Given the description of an element on the screen output the (x, y) to click on. 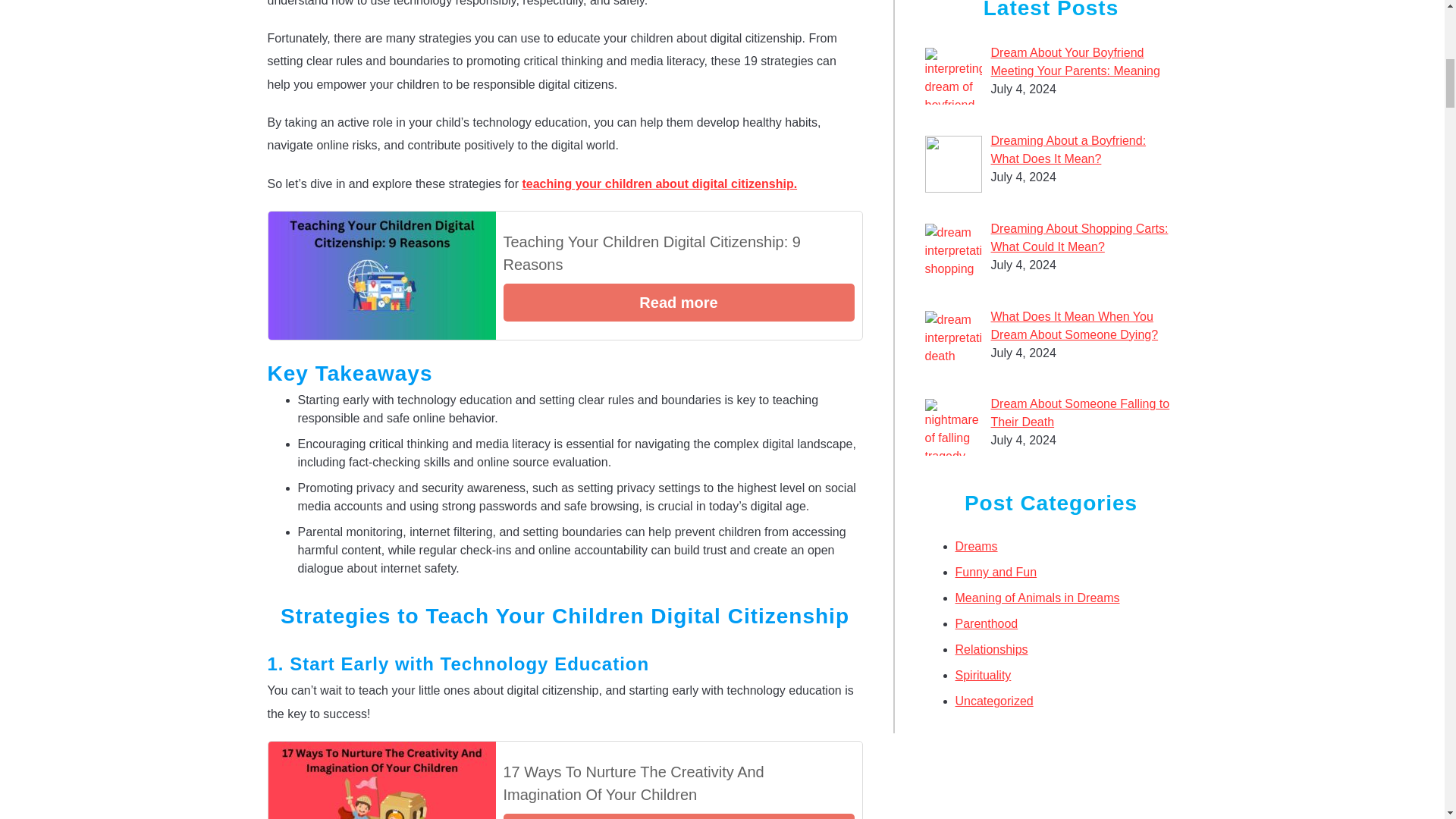
Dream About Your Boyfriend Meeting Your Parents: Meaning (1075, 60)
What Does It Mean When You Dream About Someone Dying? (1074, 325)
Parenthood (986, 623)
teaching your children about digital citizenship. (658, 183)
Funny and Fun (995, 571)
Dreaming About a Boyfriend: What Does It Mean? (1069, 149)
Dreams (976, 545)
Relationships (991, 649)
Meaning of Animals in Dreams (1037, 597)
Dreaming About Shopping Carts: What Could It Mean? (1080, 237)
